Given the description of an element on the screen output the (x, y) to click on. 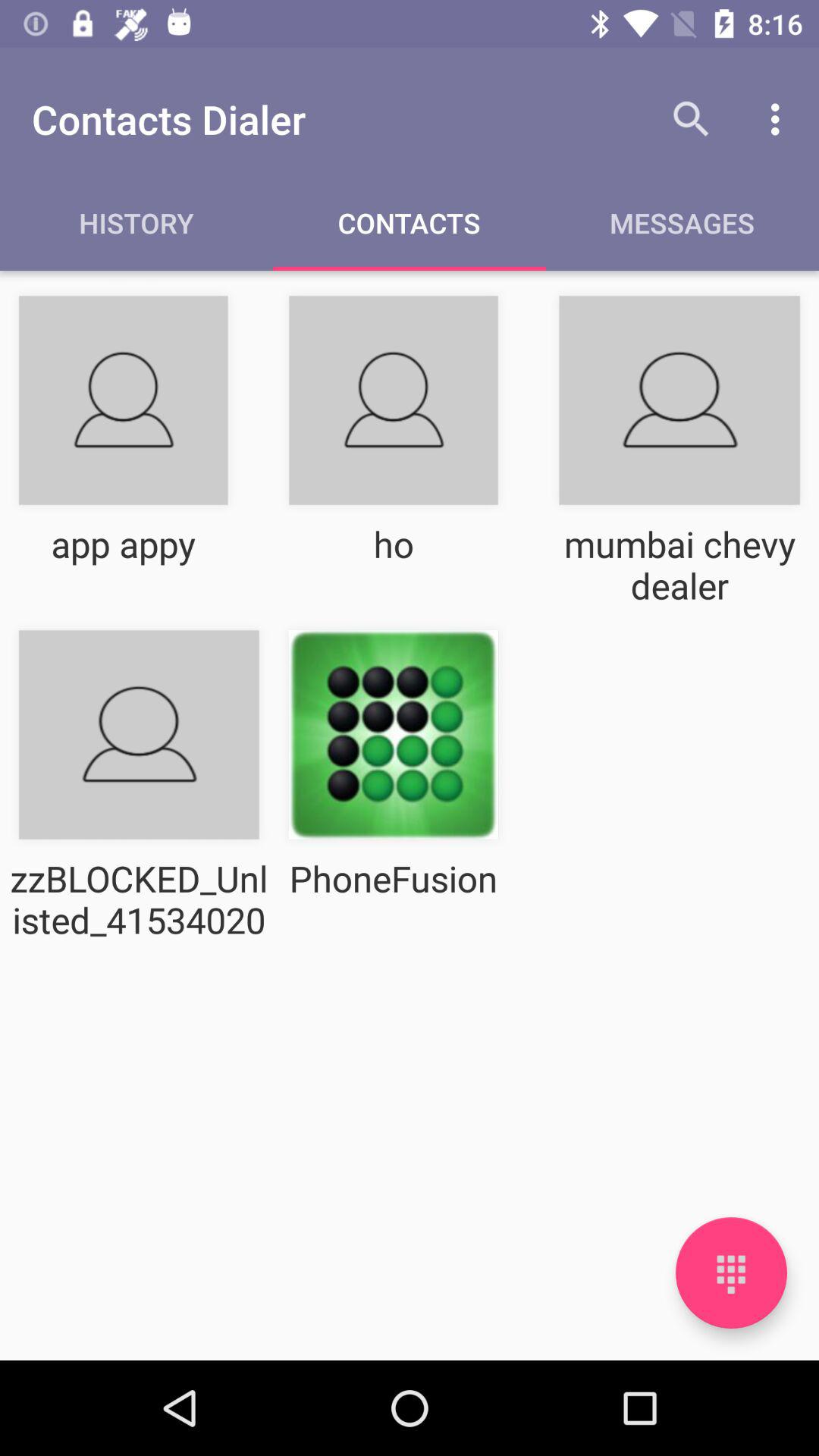
launch item above the messages item (779, 119)
